Given the description of an element on the screen output the (x, y) to click on. 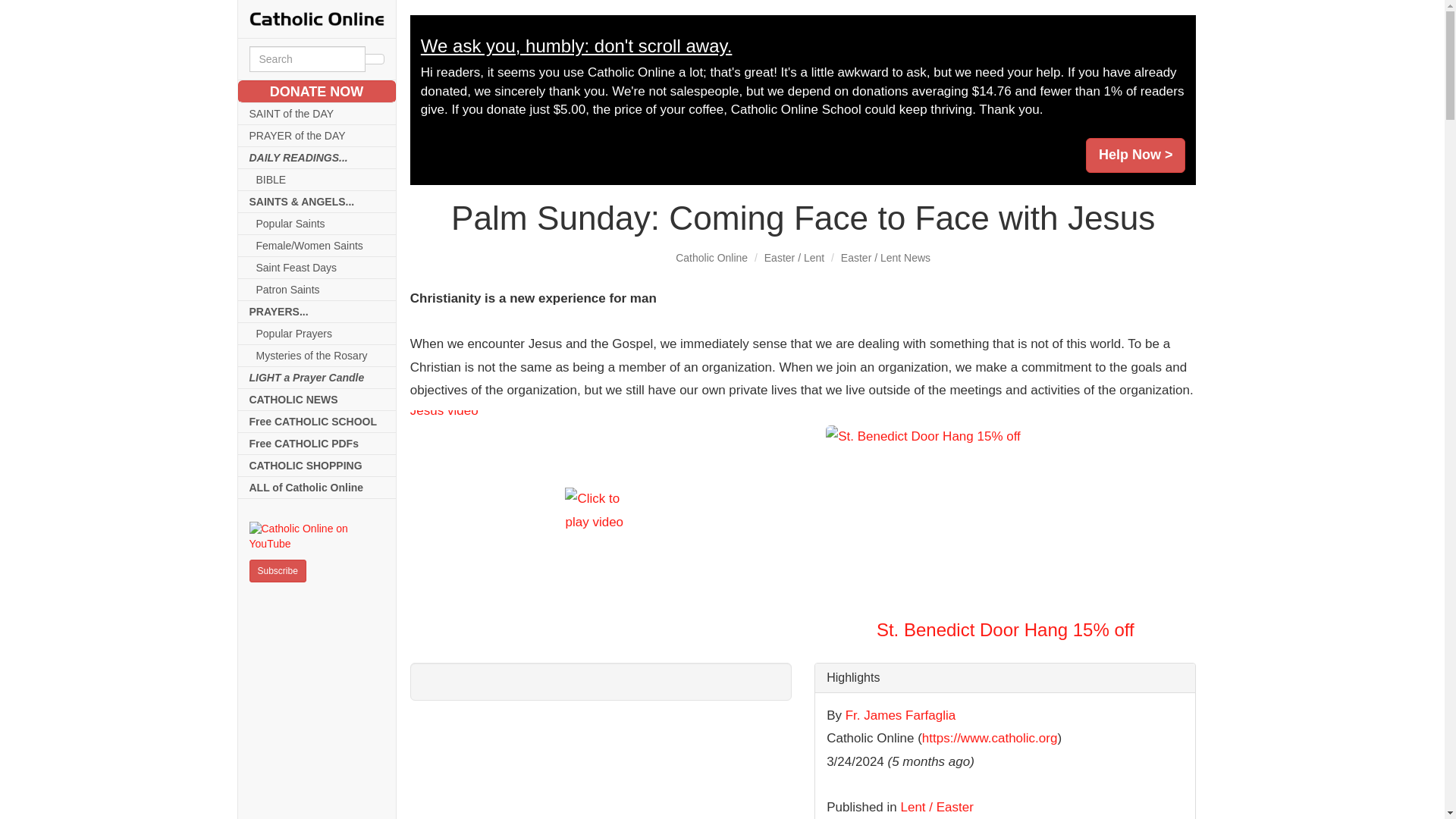
SAINT of the DAY (317, 114)
Saint Feast Days (317, 268)
Patron Saints (317, 290)
Mysteries of the Rosary (317, 355)
ALL of Catholic Online (317, 487)
We ask you, humbly: don't scroll away. (576, 46)
Catholic Online (711, 257)
Catholic Online on YouTube (316, 536)
Popular Saints (317, 223)
Free CATHOLIC SCHOOL (317, 422)
